Given the description of an element on the screen output the (x, y) to click on. 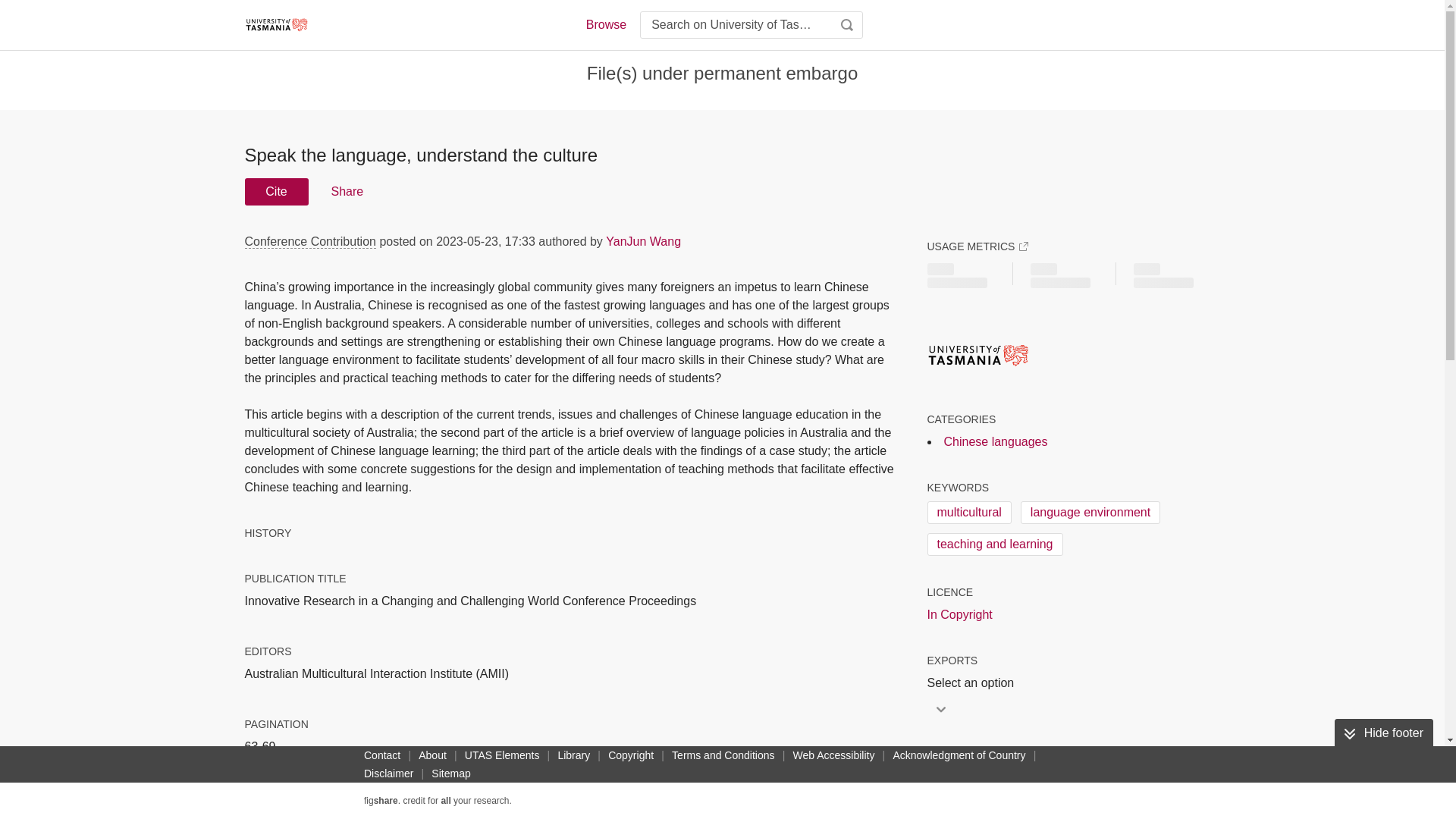
Hide footer (1383, 733)
USAGE METRICS (976, 246)
In Copyright (958, 615)
Select an option (974, 683)
Acknowledgment of Country (958, 755)
Browse (605, 24)
About (432, 755)
Contact (381, 755)
teaching and learning (994, 544)
multicultural (968, 512)
Web Accessibility (834, 755)
Cite (275, 191)
language environment (1090, 512)
YanJun Wang (643, 241)
Library (573, 755)
